Given the description of an element on the screen output the (x, y) to click on. 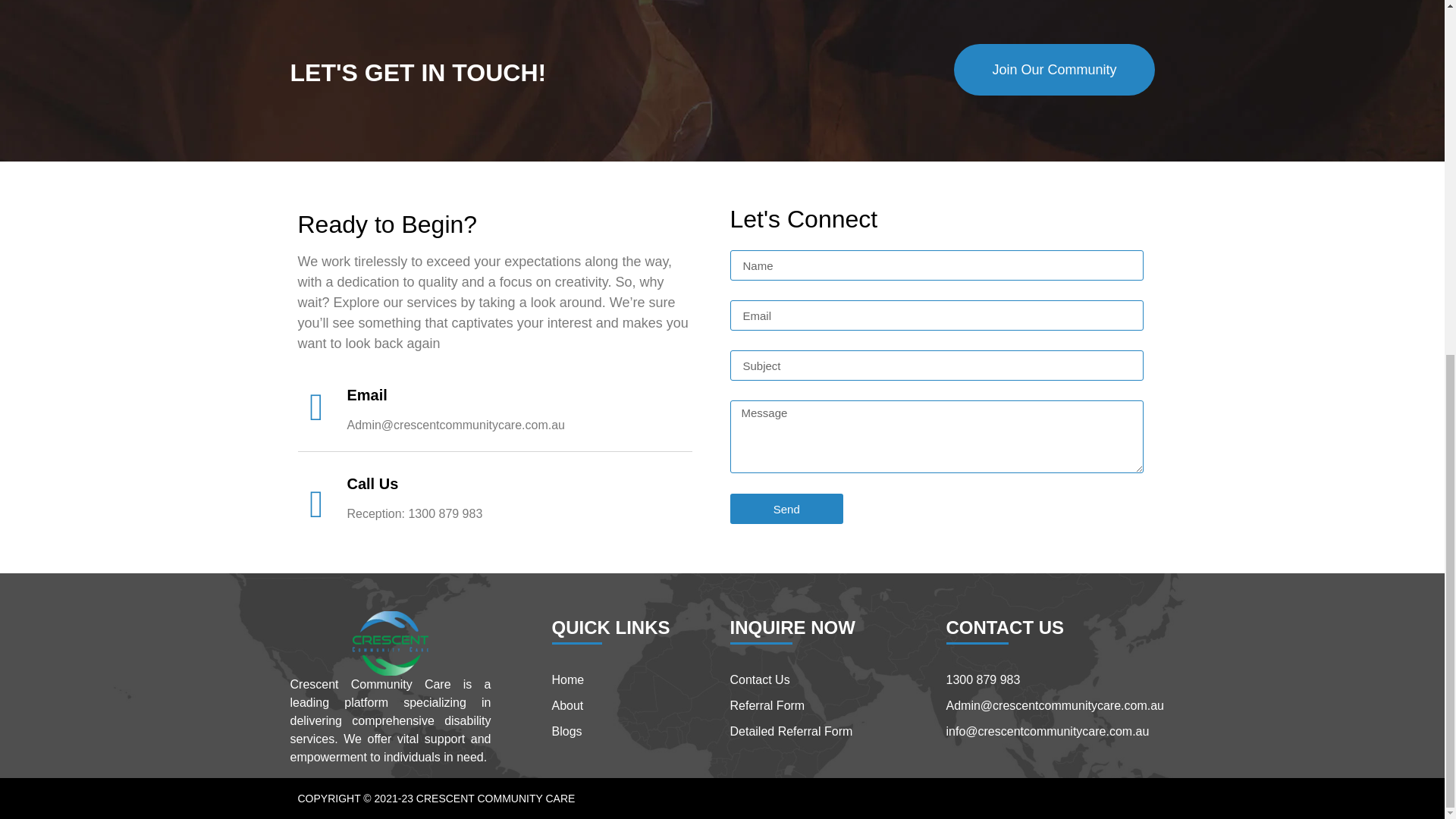
Crescent-Community-Care-logo (390, 642)
